Given the description of an element on the screen output the (x, y) to click on. 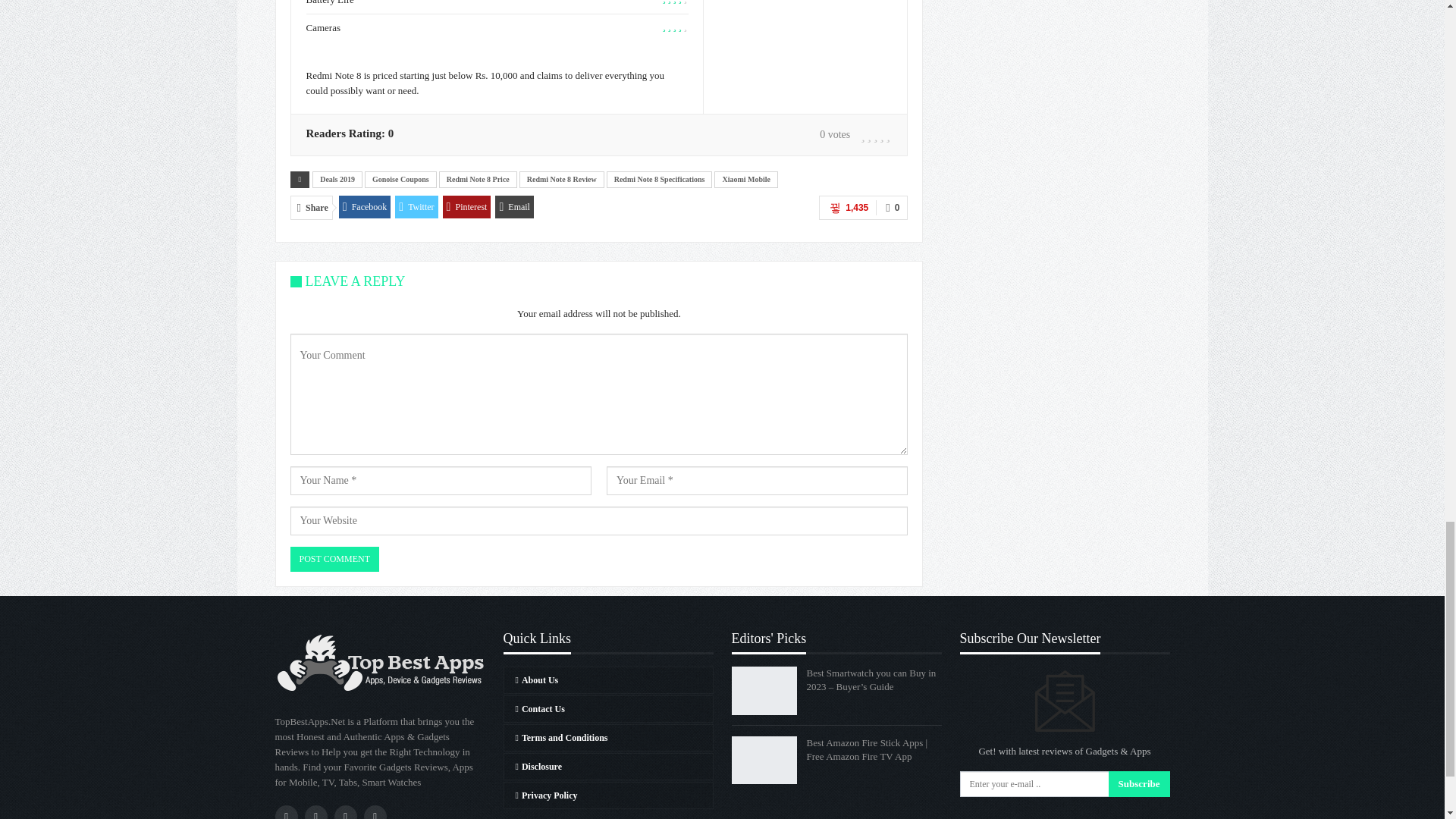
Deals 2019 (337, 179)
Redmi Note 8 Review (561, 179)
Gonoise Coupons (400, 179)
0 (891, 207)
Email (514, 206)
Pinterest (467, 206)
Redmi Note 8 Price (477, 179)
Xiaomi Mobile (745, 179)
Post Comment (333, 559)
Twitter (416, 206)
Facebook (365, 206)
Redmi Note 8 Specifications (660, 179)
